Given the description of an element on the screen output the (x, y) to click on. 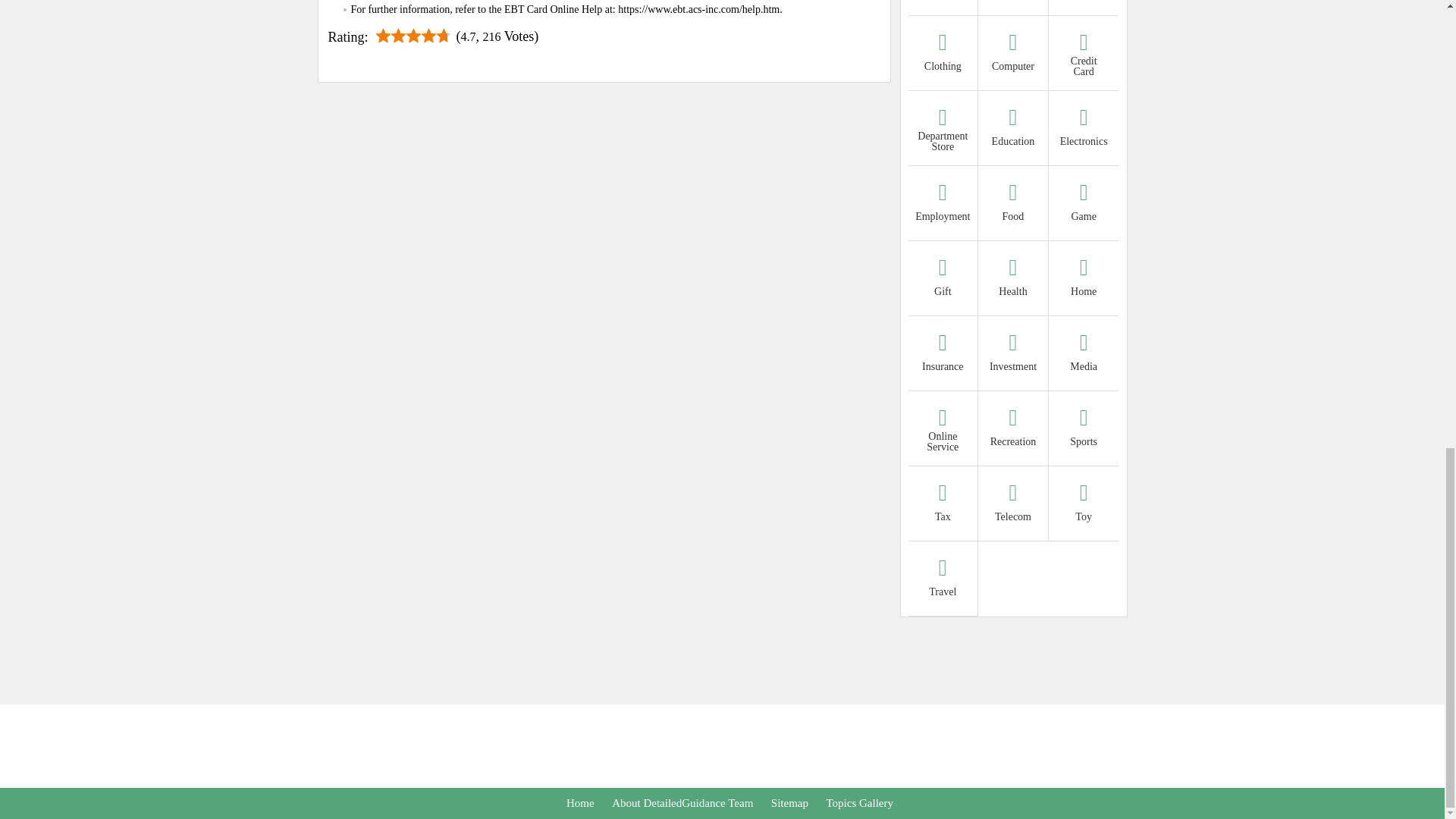
Employment (943, 204)
Credit Card (1083, 54)
Department Store (943, 129)
Advertisement (721, 745)
Home (1083, 279)
Automotive (943, 2)
Food (1013, 204)
Clothing (943, 54)
Health (1013, 279)
Beauty (1083, 2)
